Given the description of an element on the screen output the (x, y) to click on. 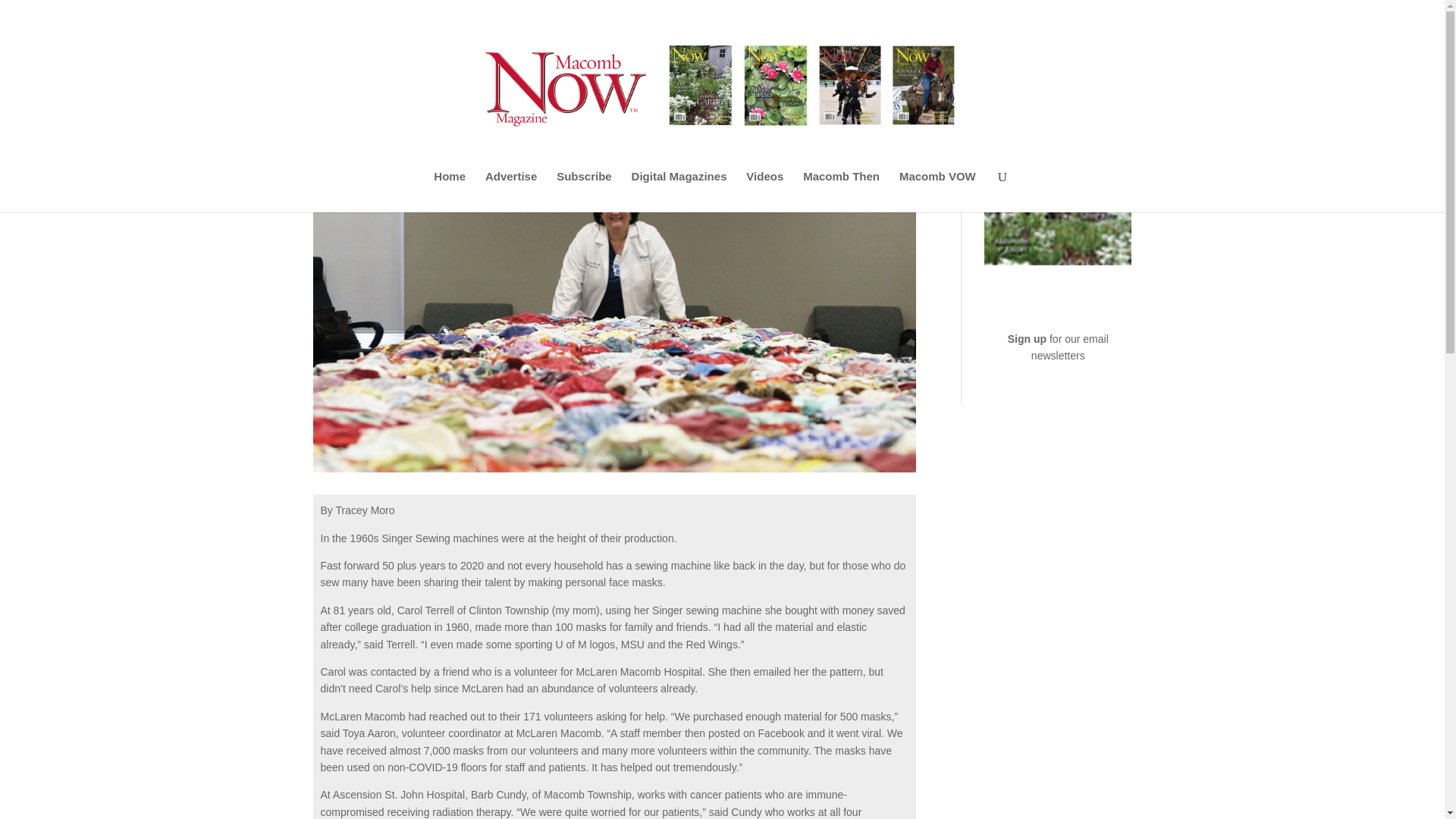
Digital Magazines (678, 191)
Macomb VOW (937, 191)
Sign up (1028, 338)
Advertise (510, 191)
Subscribe (583, 191)
Videos (764, 191)
Macomb Then (841, 191)
